Given the description of an element on the screen output the (x, y) to click on. 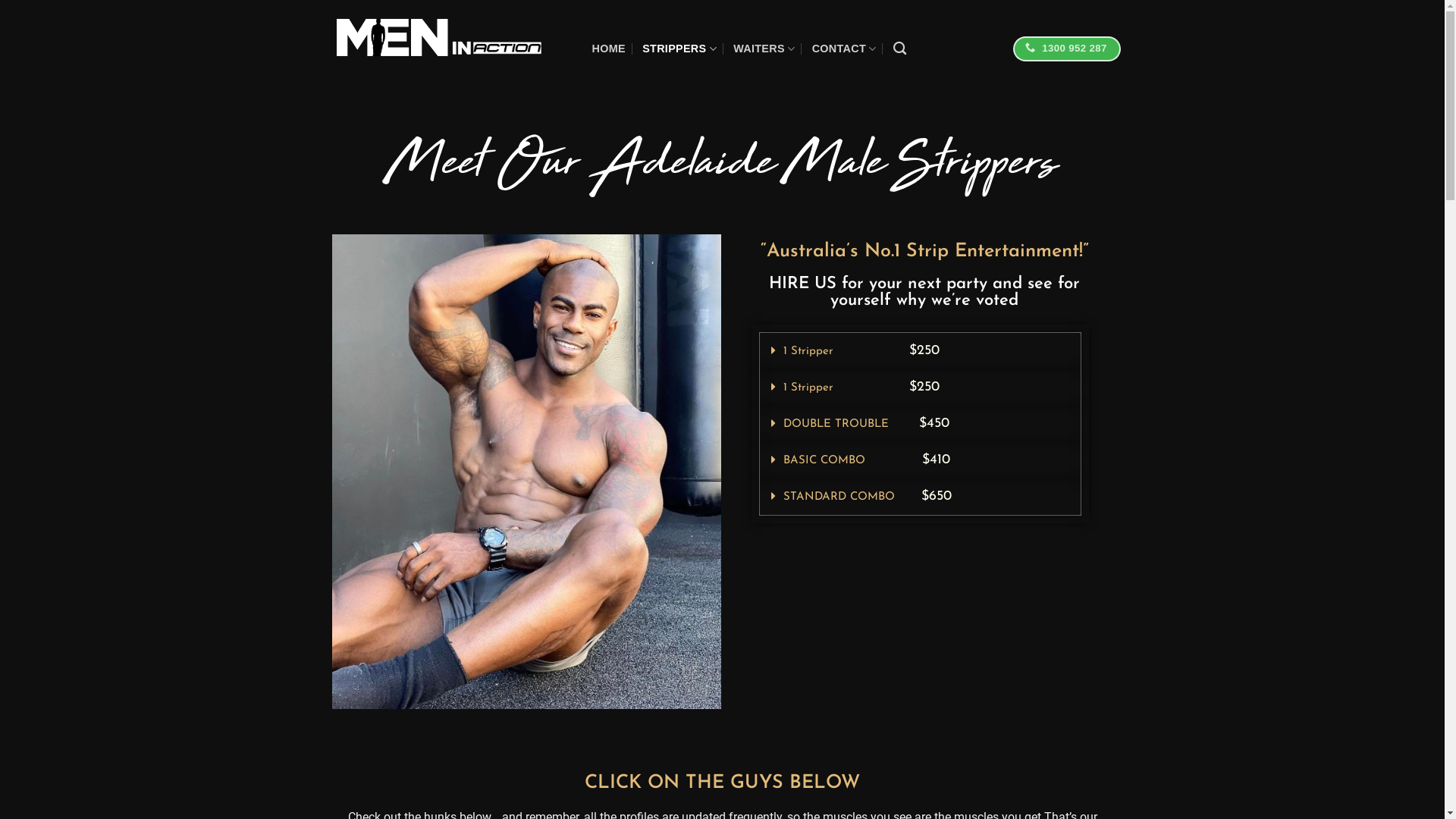
WAITERS Element type: text (763, 48)
CONTACT Element type: text (844, 48)
STRIPPERS Element type: text (679, 48)
HOME Element type: text (607, 48)
DOUBLE TROUBLE        $450 Element type: text (866, 423)
1 Stripper                    $250 Element type: text (861, 387)
1 Stripper                    $250 Element type: text (861, 351)
BASIC COMBO               $410 Element type: text (866, 460)
1300 952 287 Element type: text (1066, 48)
STANDARD COMBO       $650 Element type: text (867, 496)
